Given the description of an element on the screen output the (x, y) to click on. 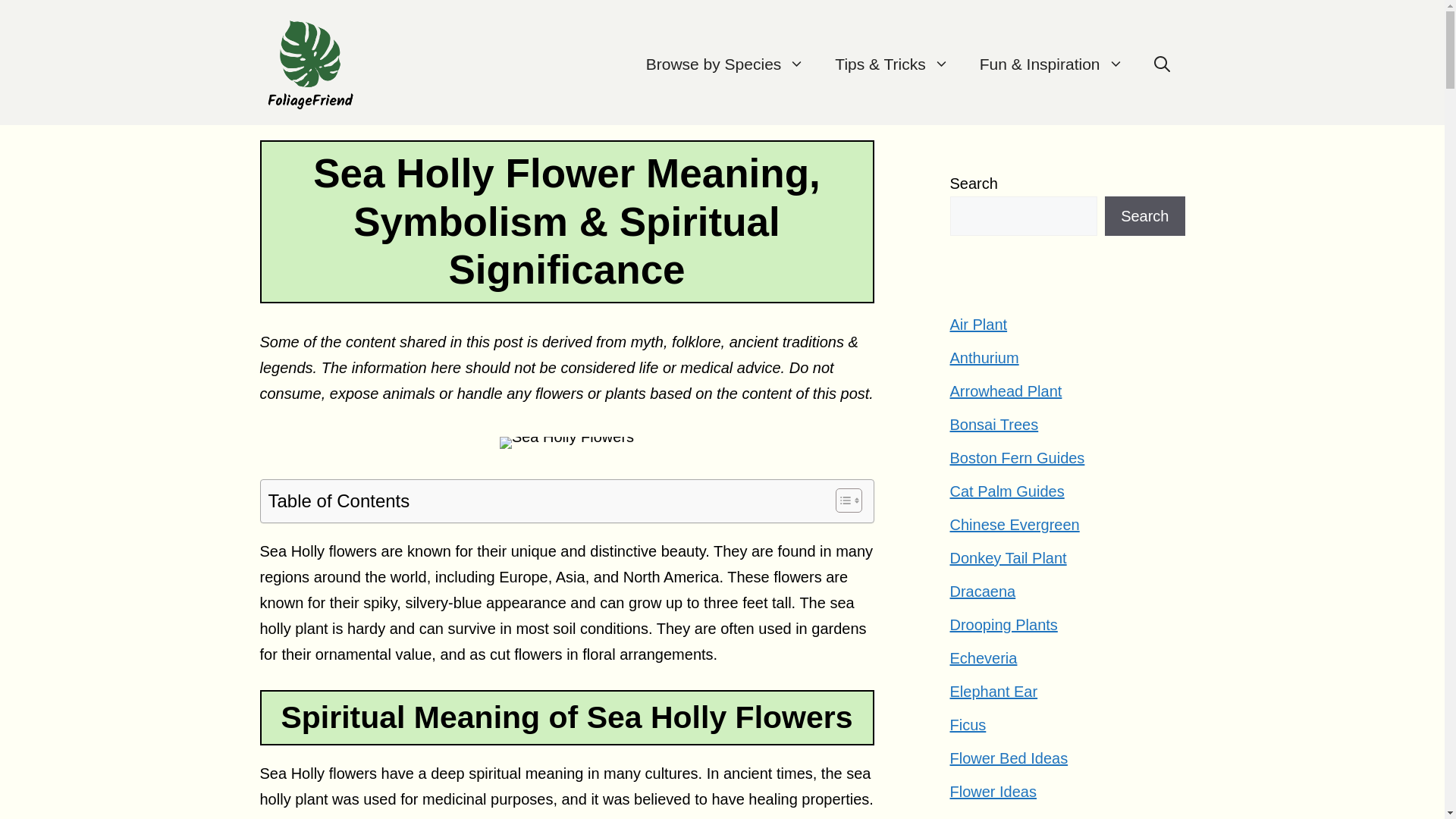
Browse by Species (725, 63)
